Given the description of an element on the screen output the (x, y) to click on. 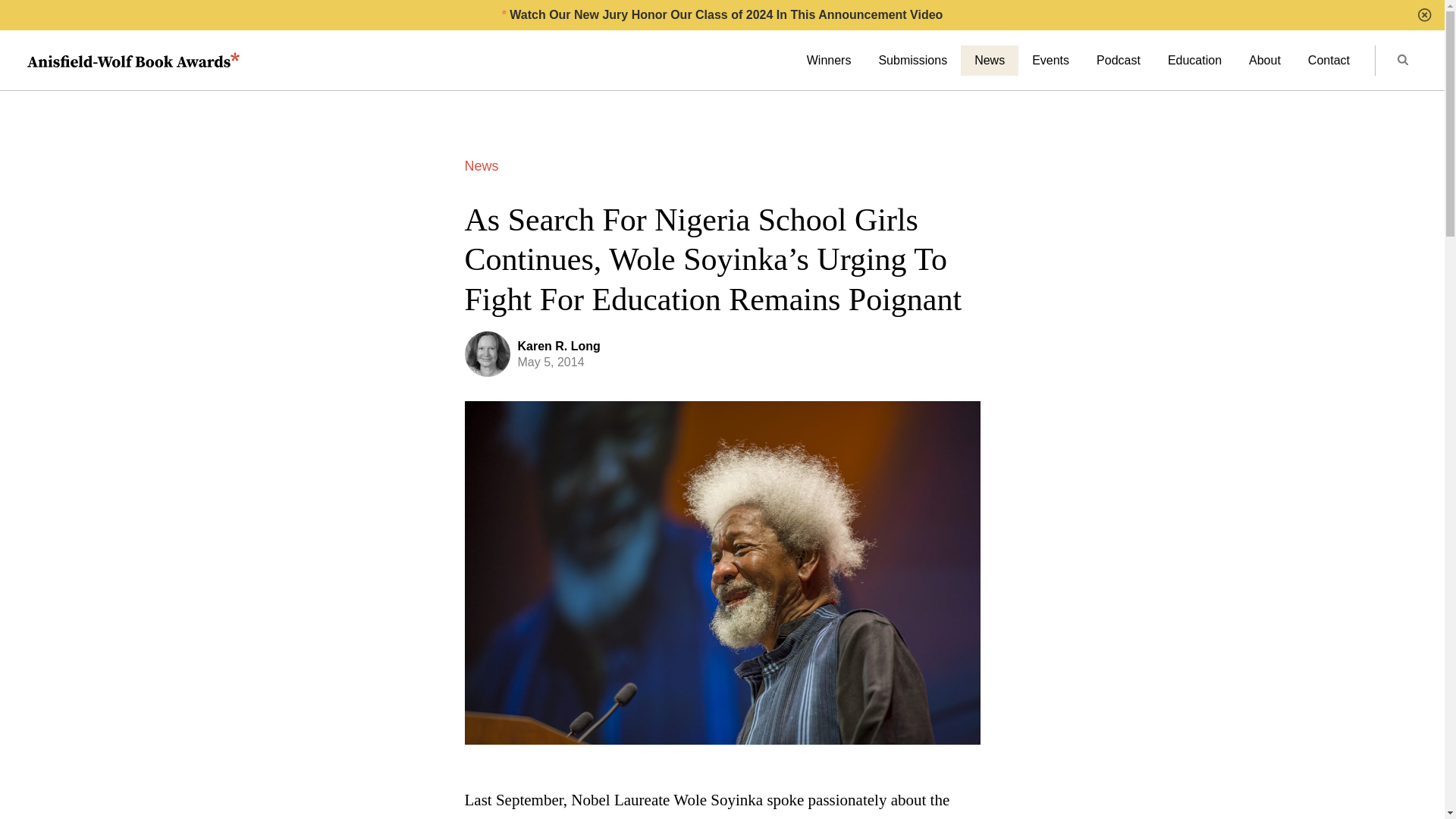
News (480, 165)
Submissions (912, 60)
Contact (1328, 60)
News (988, 60)
Submit (1402, 60)
Events (1050, 60)
Close (1424, 14)
Podcast (1118, 60)
About (1264, 60)
Education (1194, 60)
Activate search form (1401, 60)
Winners (828, 60)
Anisfield-Wolf Book Awards (133, 60)
